Given the description of an element on the screen output the (x, y) to click on. 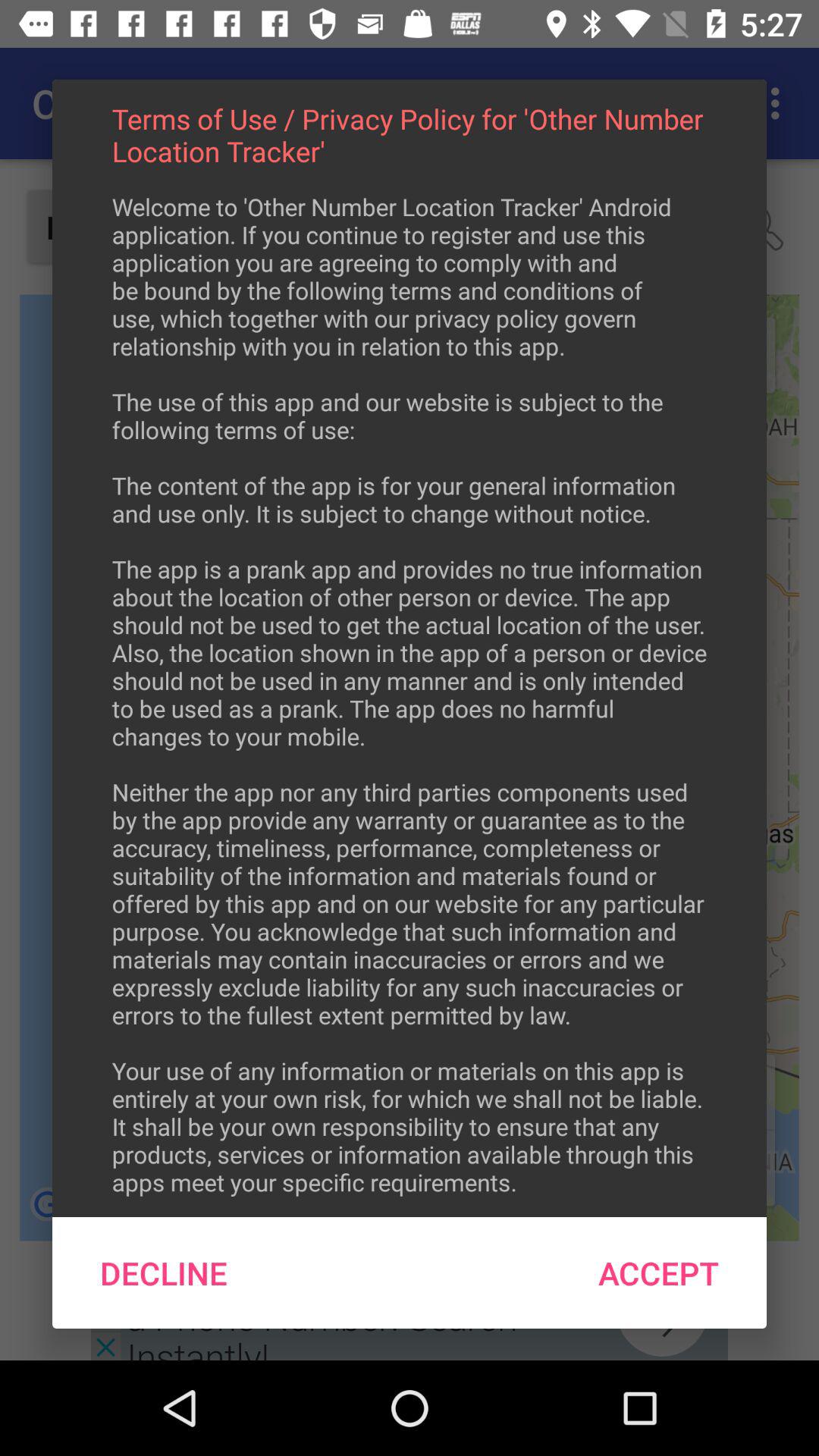
press decline (163, 1272)
